Given the description of an element on the screen output the (x, y) to click on. 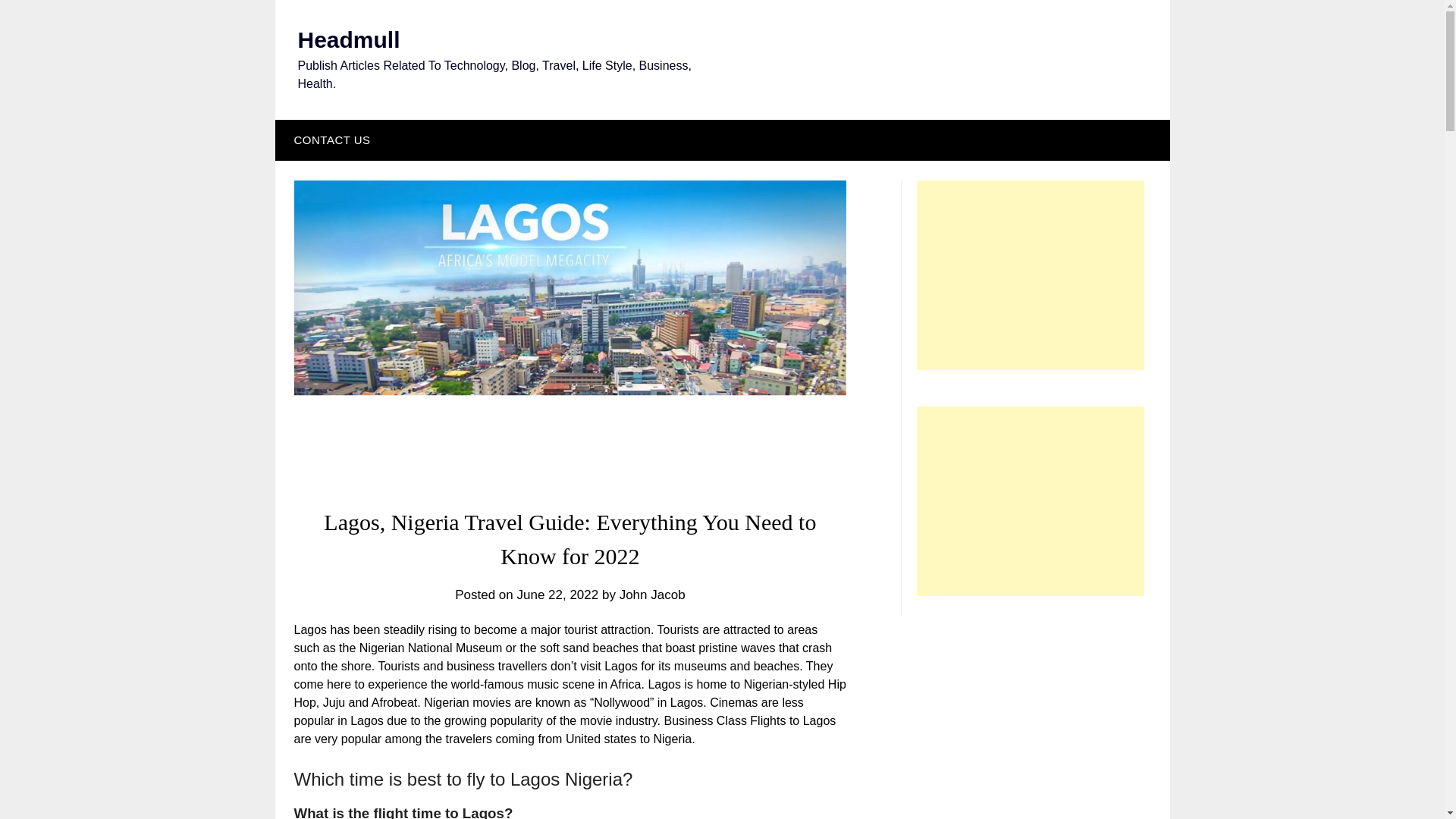
June 22, 2022 (557, 594)
CONTACT US (328, 139)
Advertisement (1030, 501)
Advertisement (1030, 275)
Headmull (347, 39)
John Jacob (652, 594)
